Given the description of an element on the screen output the (x, y) to click on. 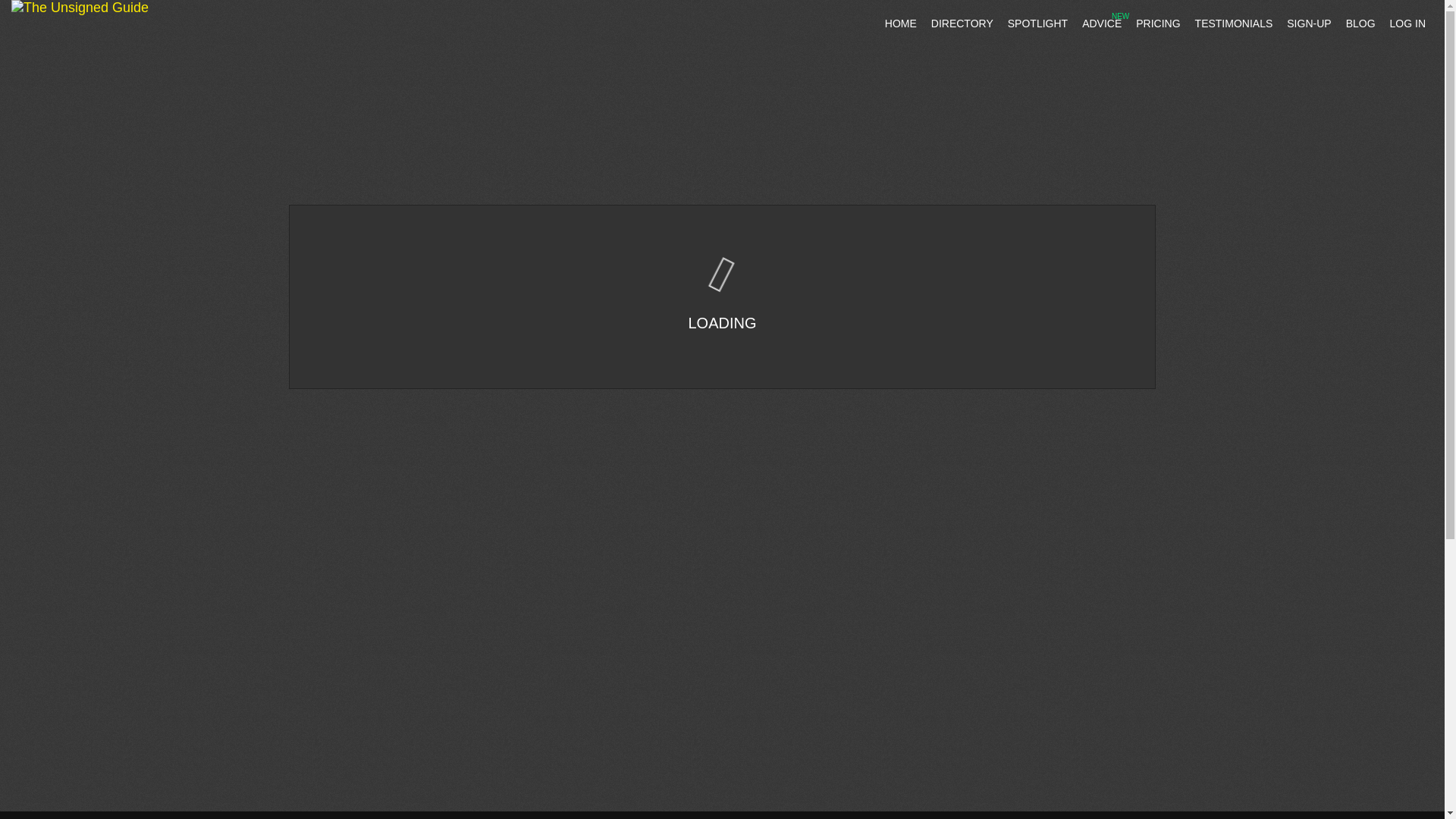
SPOTLIGHT (1037, 23)
BLOG (1360, 23)
PRICING (1158, 23)
SIGN-UP (1308, 23)
TESTIMONIALS (1234, 23)
DIRECTORY (962, 23)
LOG IN (1406, 23)
ADVICE (1101, 23)
HOME (900, 23)
